Given the description of an element on the screen output the (x, y) to click on. 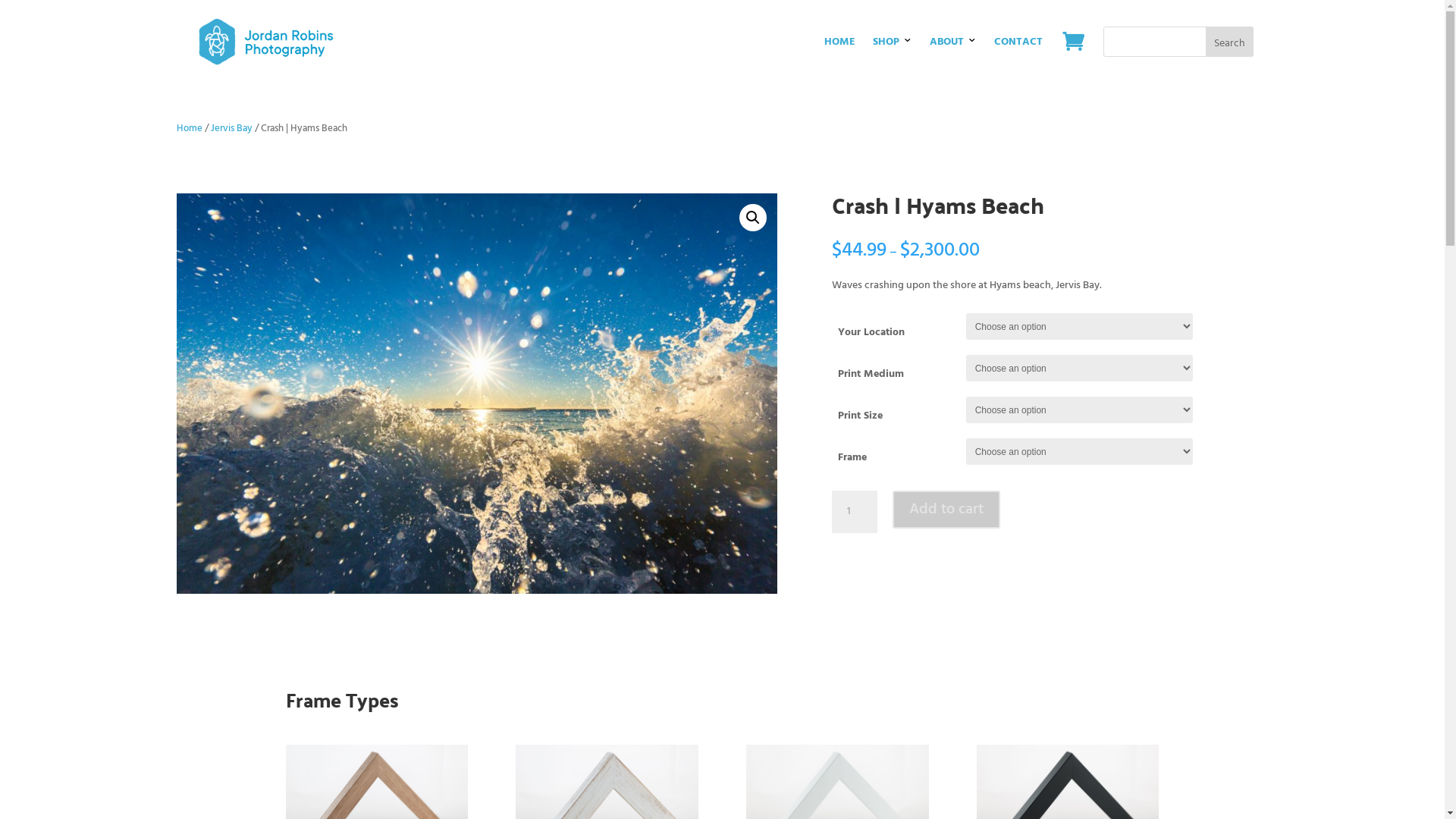
CONTACT Element type: text (1018, 41)
Search Element type: text (1229, 41)
HOME Element type: text (839, 41)
Add to cart Element type: text (946, 509)
Home Element type: text (188, 128)
Jervis Bay Element type: text (231, 128)
ABOUT Element type: text (946, 41)
SHOP Element type: text (885, 41)
